Given the description of an element on the screen output the (x, y) to click on. 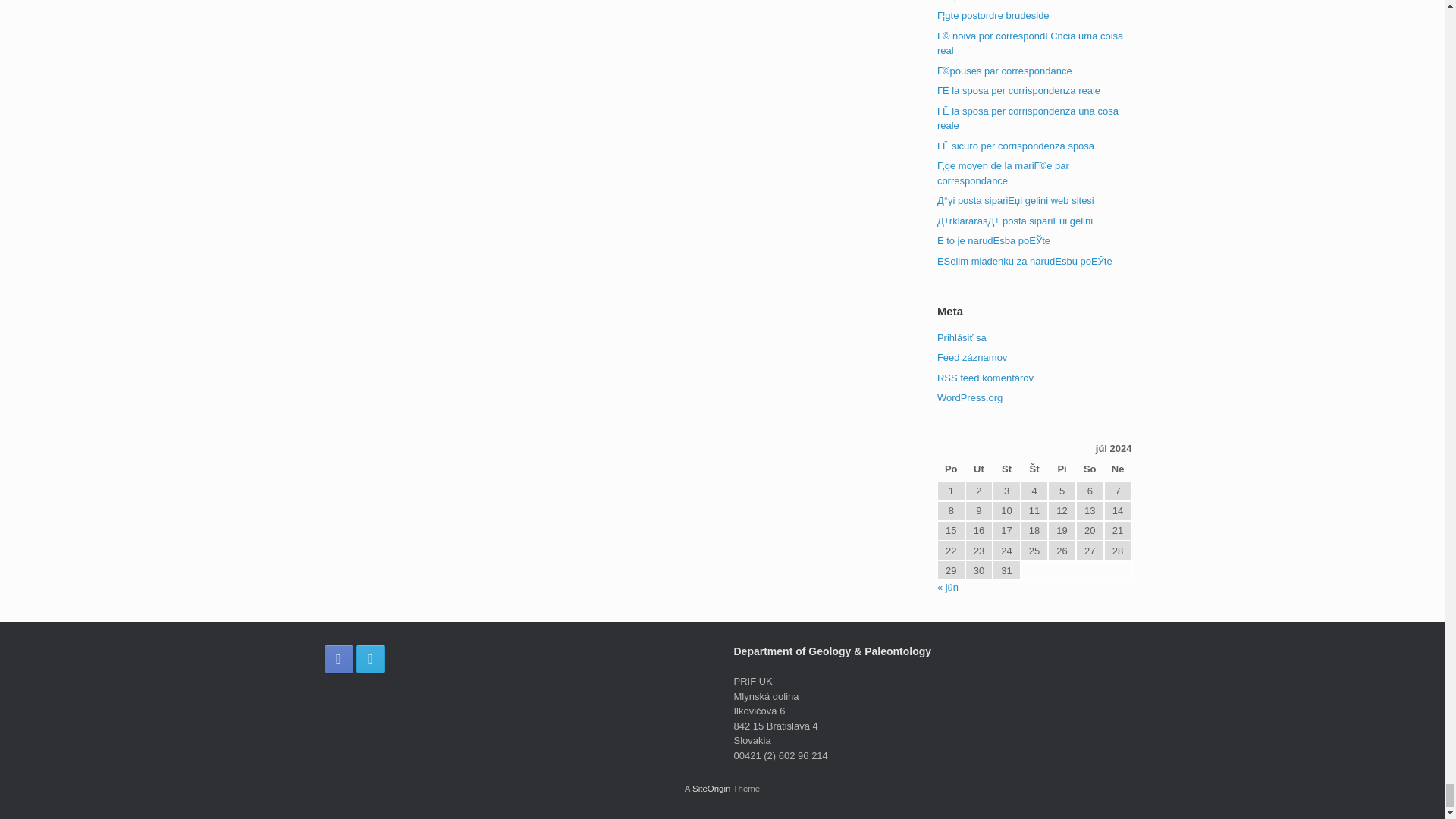
piatok (1061, 470)
streda (1006, 470)
pondelok (951, 470)
utorok (978, 470)
sobota (1089, 470)
